Given the description of an element on the screen output the (x, y) to click on. 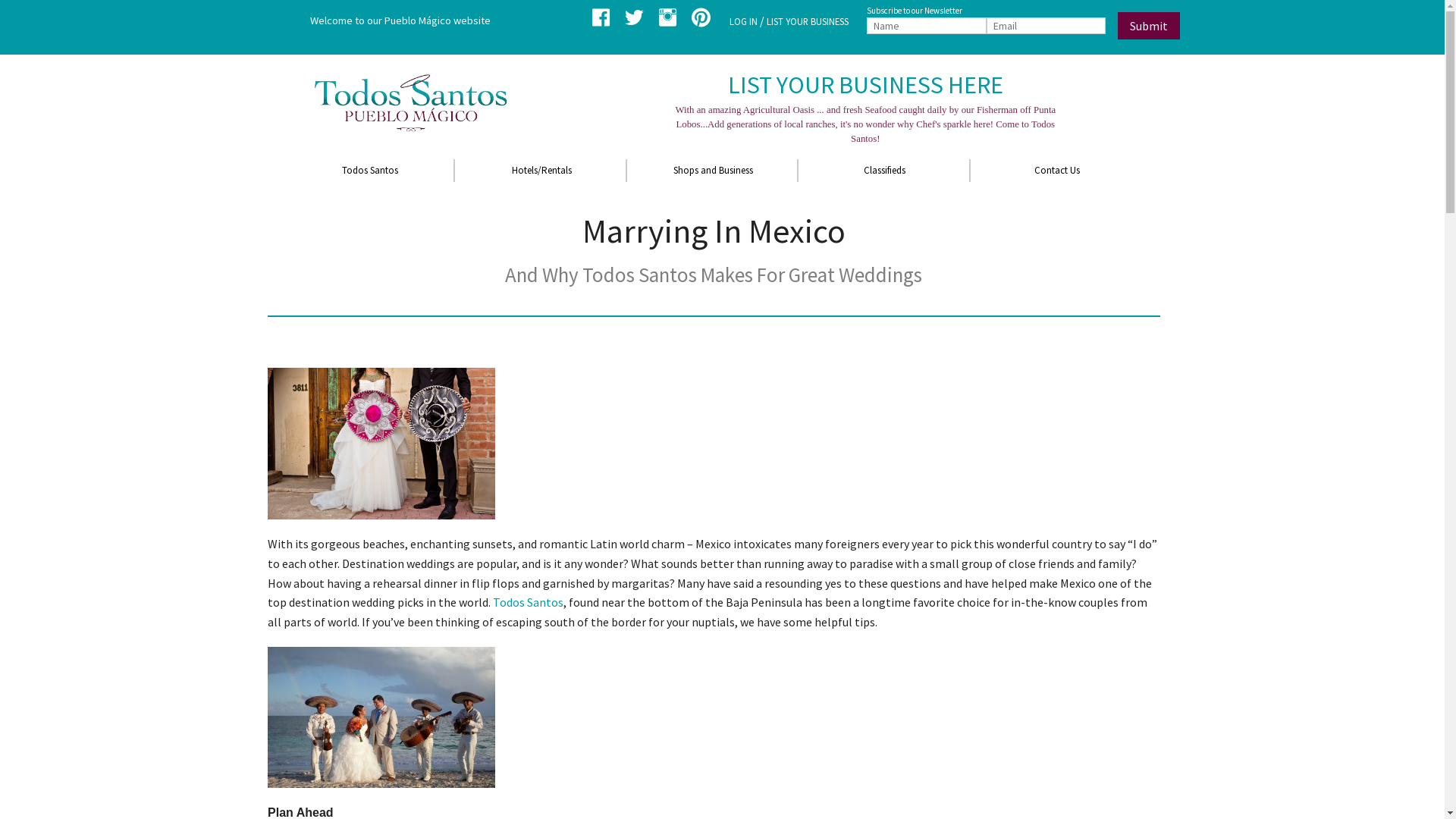
About Todos Santos Element type: text (369, 193)
Hotels and B&Bs Element type: text (541, 193)
Hotels/Rentals Element type: text (541, 170)
Classifieds Element type: text (884, 170)
Todos Santos Element type: text (369, 170)
Design and build homes Element type: text (369, 263)
Art Galleries Element type: text (713, 217)
Calendar of events Element type: text (369, 240)
LOG IN Element type: text (743, 21)
Hotels and VRs in Pescadero - Cerritos Element type: text (541, 240)
Beaches and Activities Element type: text (369, 217)
Nigthlife and Music Element type: text (369, 286)
Contact Us Element type: text (1057, 170)
Foto Gallery Element type: text (369, 309)
Shops and Business Element type: text (713, 170)
LIST YOUR BUSINESS Element type: text (807, 21)
Submit Element type: text (1148, 25)
Restaurants Element type: text (713, 193)
Vacation Rentals Element type: text (541, 217)
Other Businesses Element type: text (713, 263)
Real Estate Element type: text (713, 240)
Todos Santos Element type: text (527, 601)
